Given the description of an element on the screen output the (x, y) to click on. 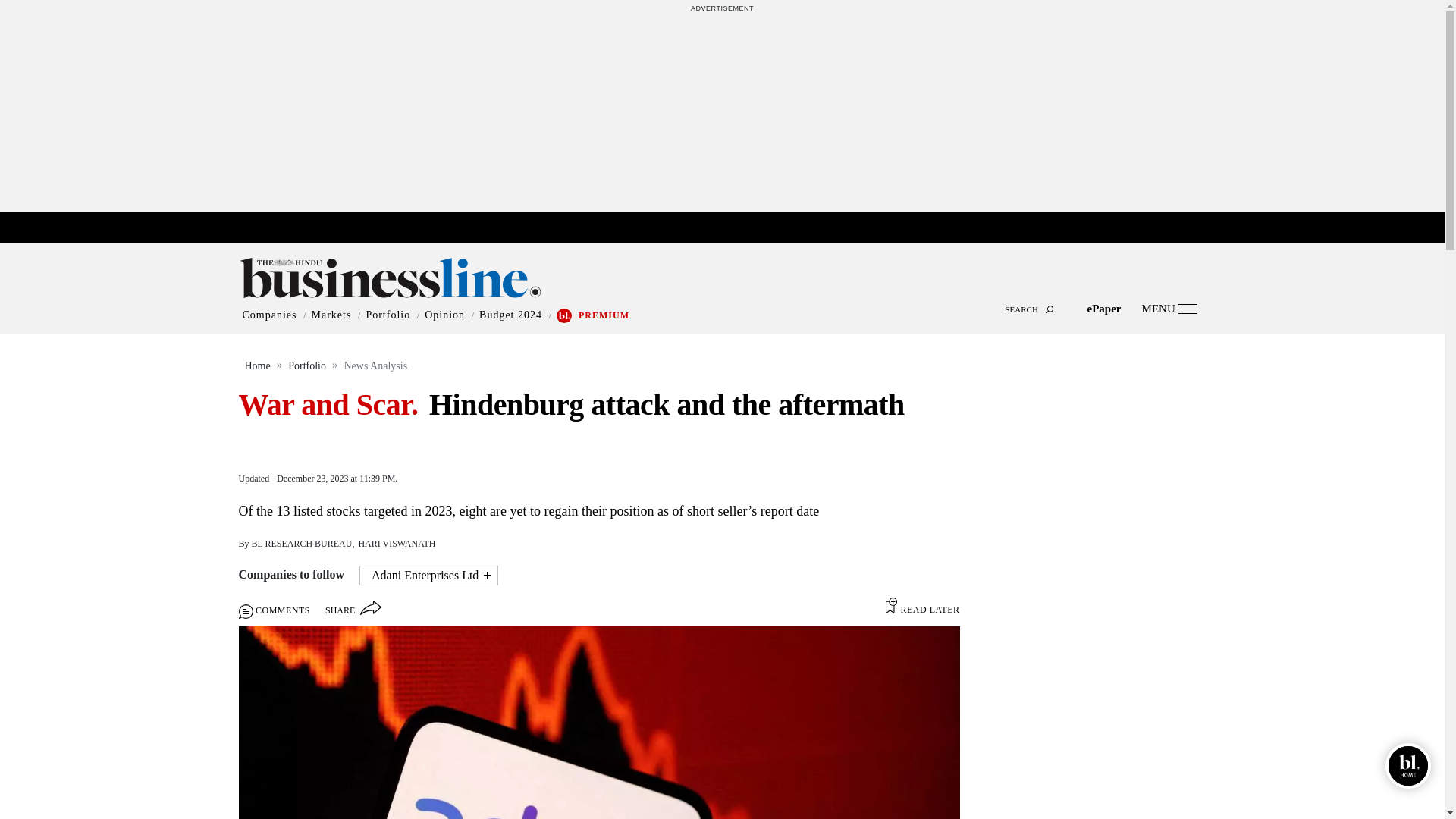
PREMIUM (603, 315)
Markets (330, 315)
marketupdate (729, 228)
Budget 2024 (510, 315)
Portfolio (387, 315)
Companies (270, 315)
MENU (1168, 308)
Opinion (444, 315)
ePaper (1104, 308)
SEARCH (721, 295)
